Given the description of an element on the screen output the (x, y) to click on. 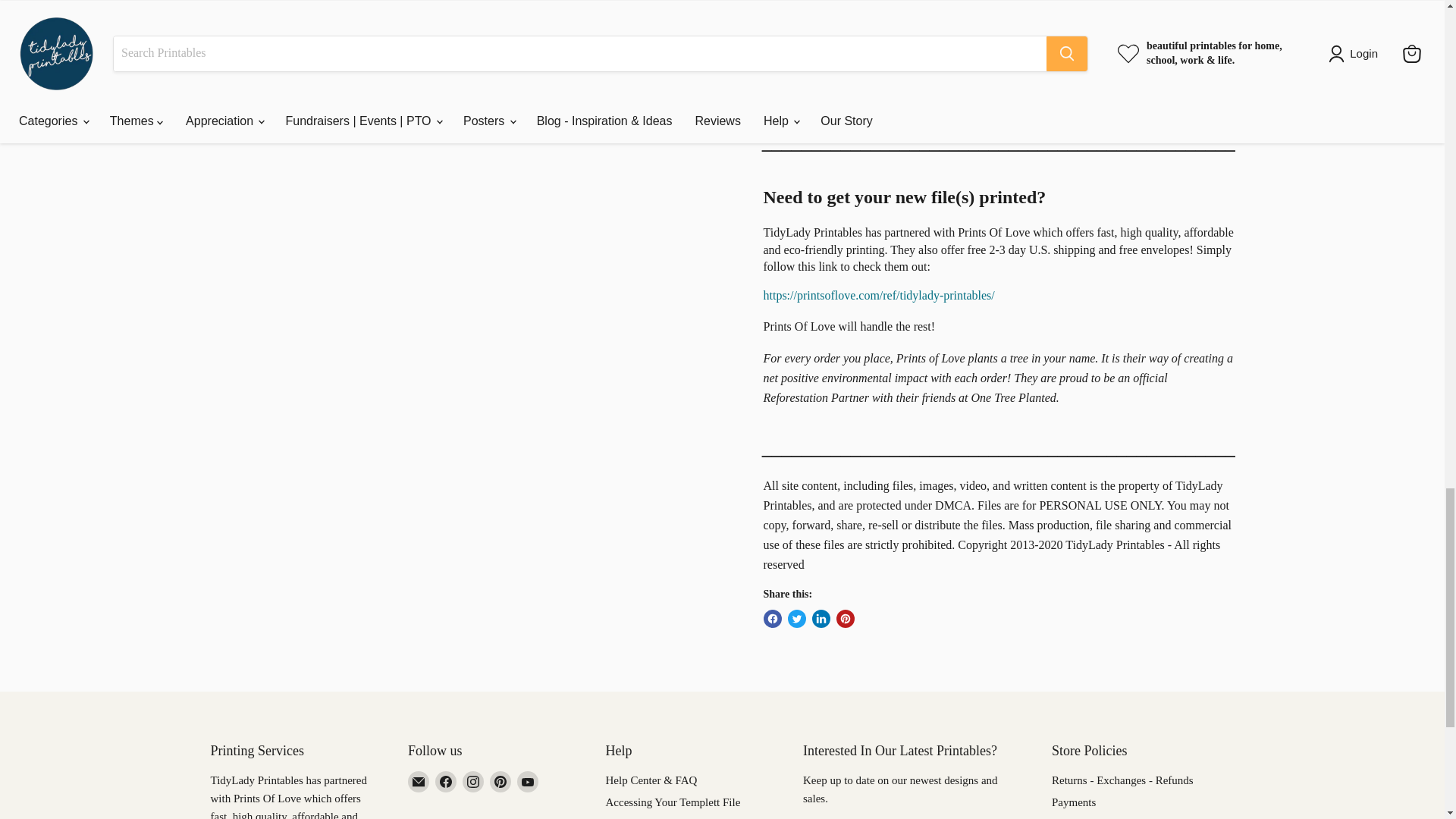
YouTube (527, 781)
Email (418, 781)
Pinterest (500, 781)
Instagram (473, 781)
Facebook (446, 781)
